Given the description of an element on the screen output the (x, y) to click on. 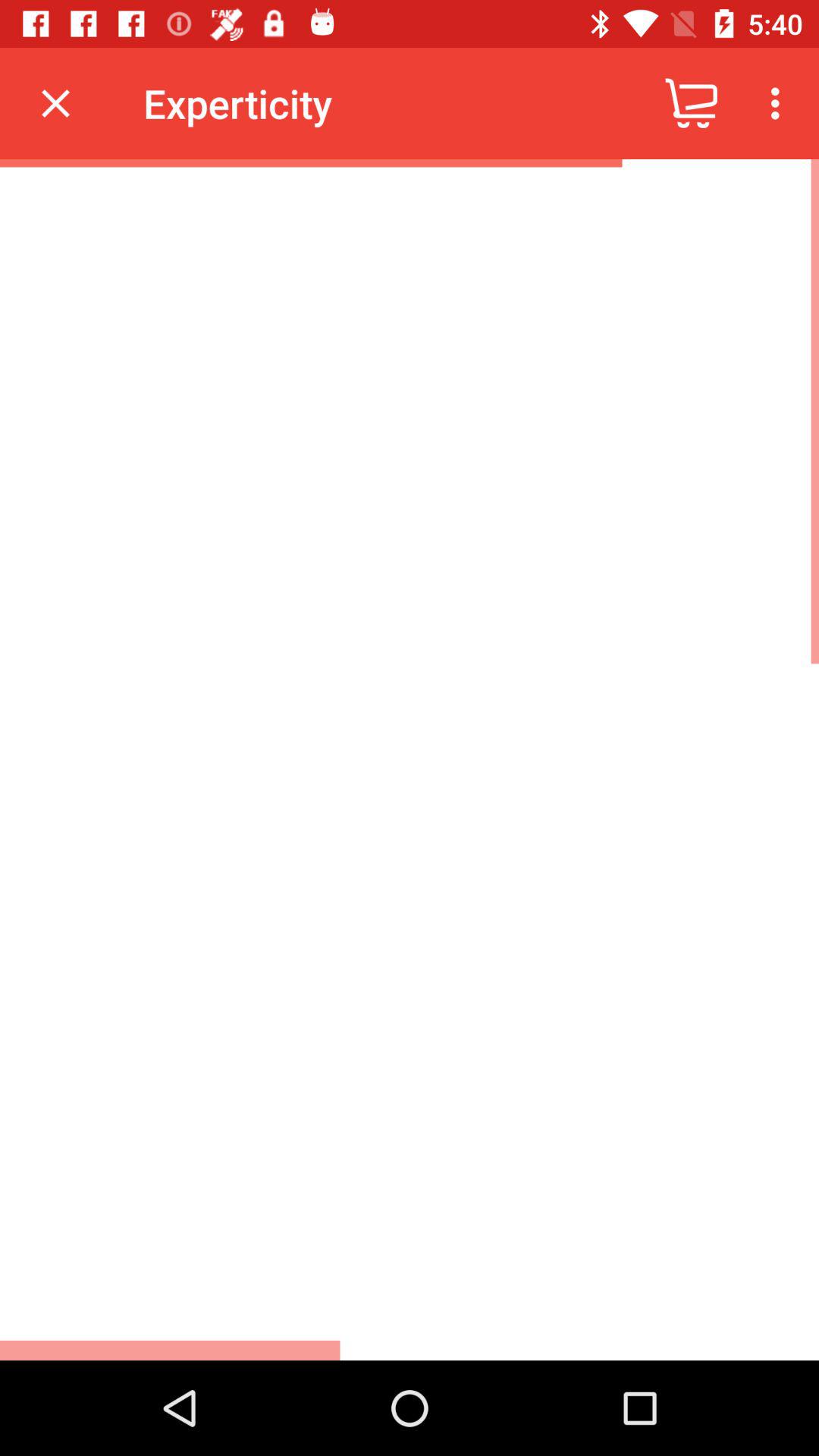
turn on icon next to the experticity icon (55, 103)
